Given the description of an element on the screen output the (x, y) to click on. 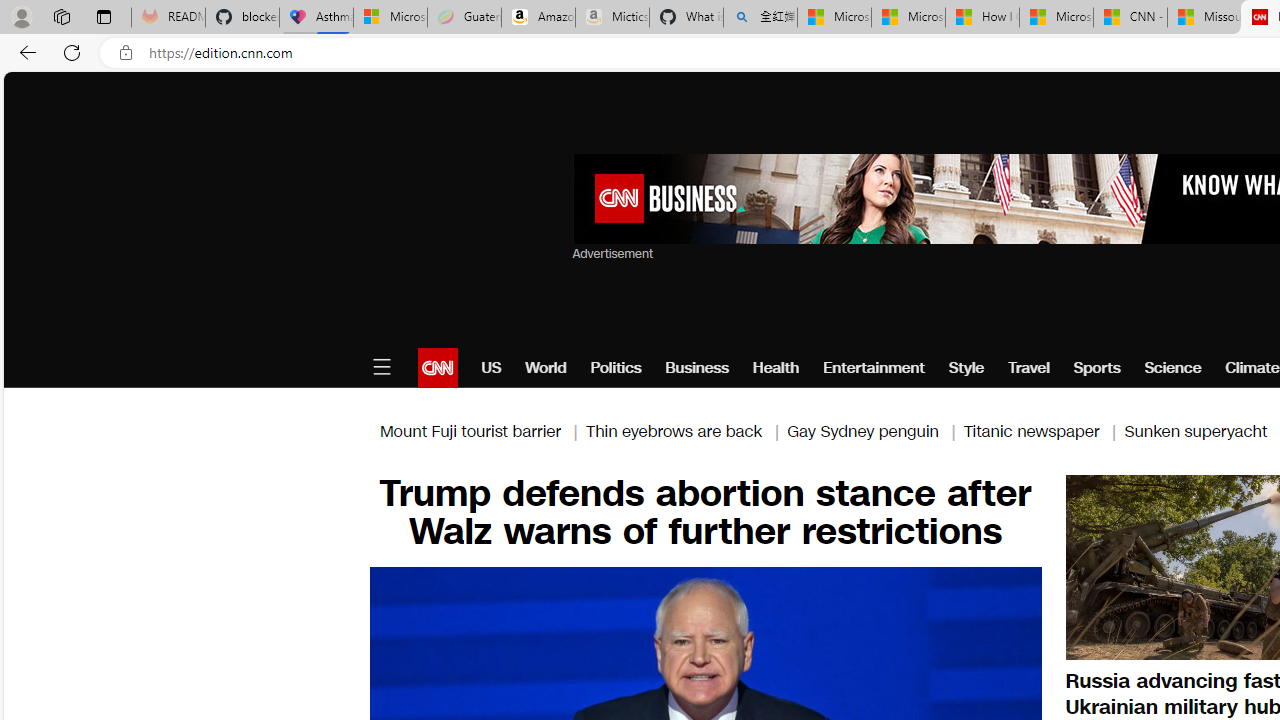
Open Menu Icon (381, 367)
CNN logo (437, 367)
Titanic newspaper | (1043, 430)
US (491, 367)
